Given the description of an element on the screen output the (x, y) to click on. 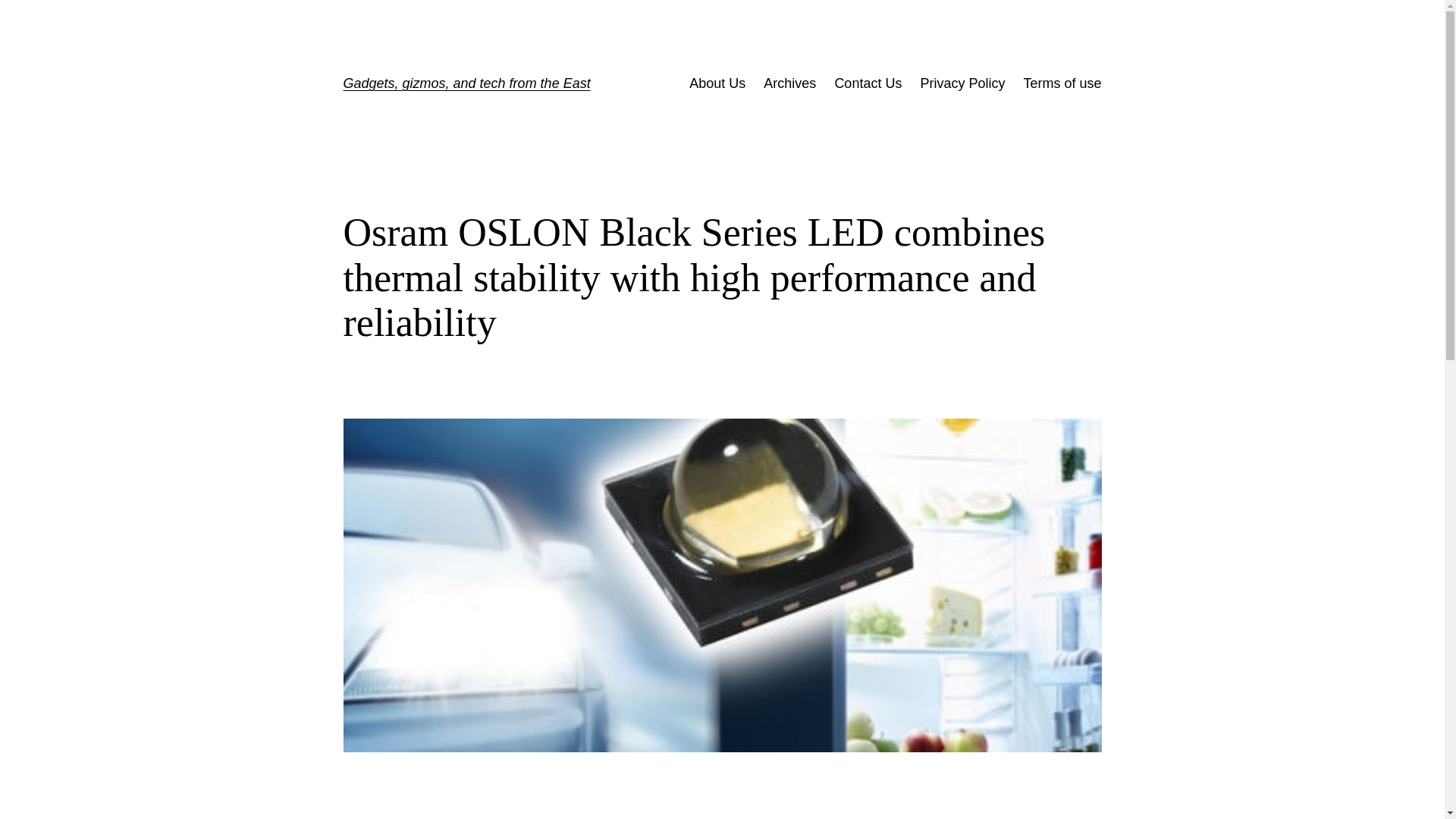
Terms of use (1061, 83)
Privacy Policy (962, 83)
Gadgets, gizmos, and tech from the East (465, 83)
About Us (716, 83)
Contact Us (867, 83)
Archives (788, 83)
